Given the description of an element on the screen output the (x, y) to click on. 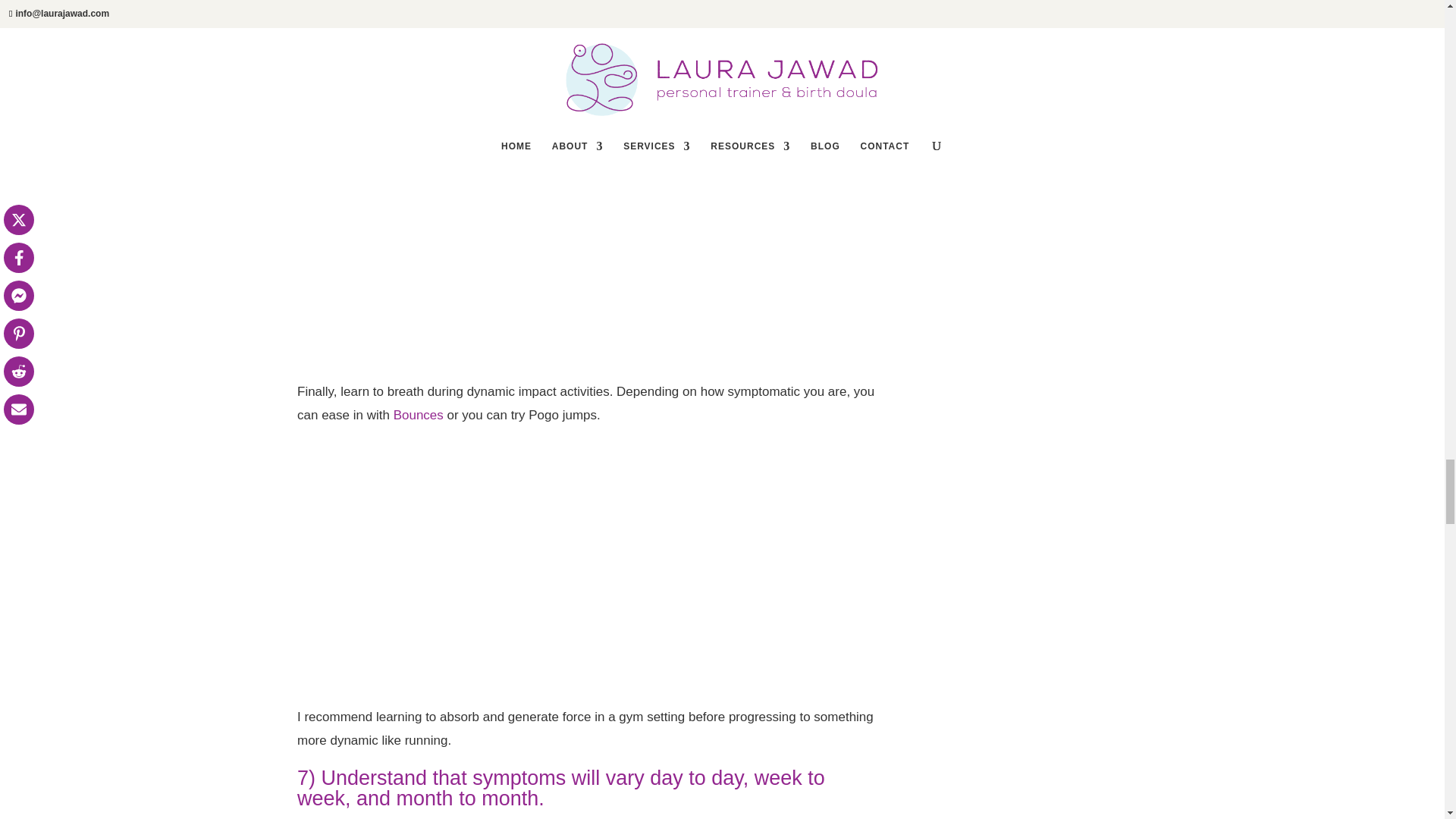
Bounces (418, 414)
YouTube video player (509, 562)
YouTube video player (509, 27)
YouTube video player (509, 237)
